Given the description of an element on the screen output the (x, y) to click on. 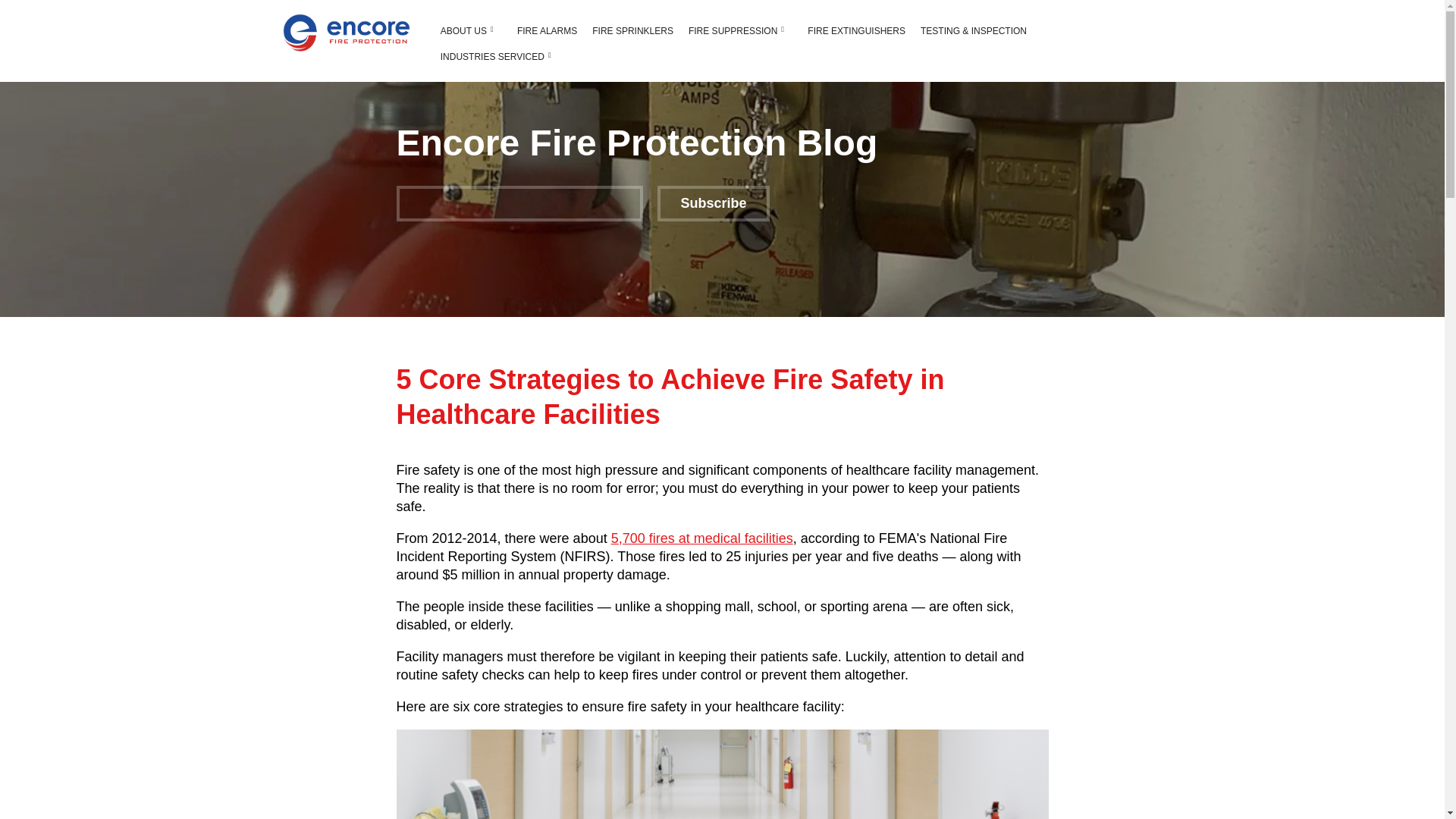
FIRE EXTINGUISHERS (855, 31)
5,700 fires at medical facilities (702, 538)
INDUSTRIES SERVICED (491, 56)
Subscribe (714, 203)
FIRE SPRINKLERS (633, 31)
vast.png (346, 32)
Subscribe (714, 203)
FIRE ALARMS (547, 31)
FIRE SUPPRESSION (732, 31)
ABOUT US (463, 31)
